Given the description of an element on the screen output the (x, y) to click on. 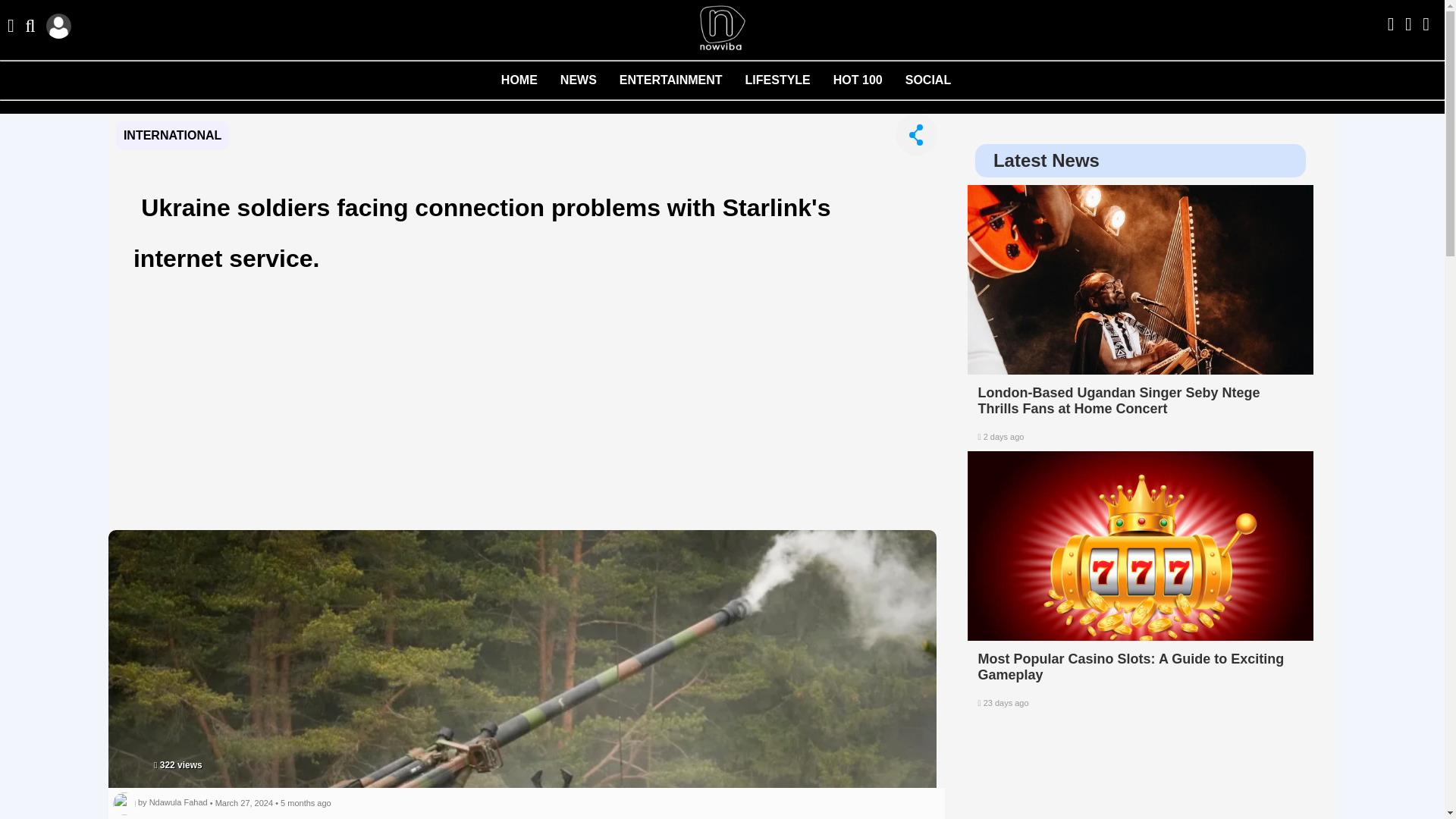
NEWS (590, 86)
LIFESTYLE (788, 86)
HOT 100 (868, 86)
Ndawula Fahad (178, 801)
Advertisement (1140, 768)
ENTERTAINMENT (682, 86)
SOCIAL (939, 86)
HOME (530, 86)
